Given the description of an element on the screen output the (x, y) to click on. 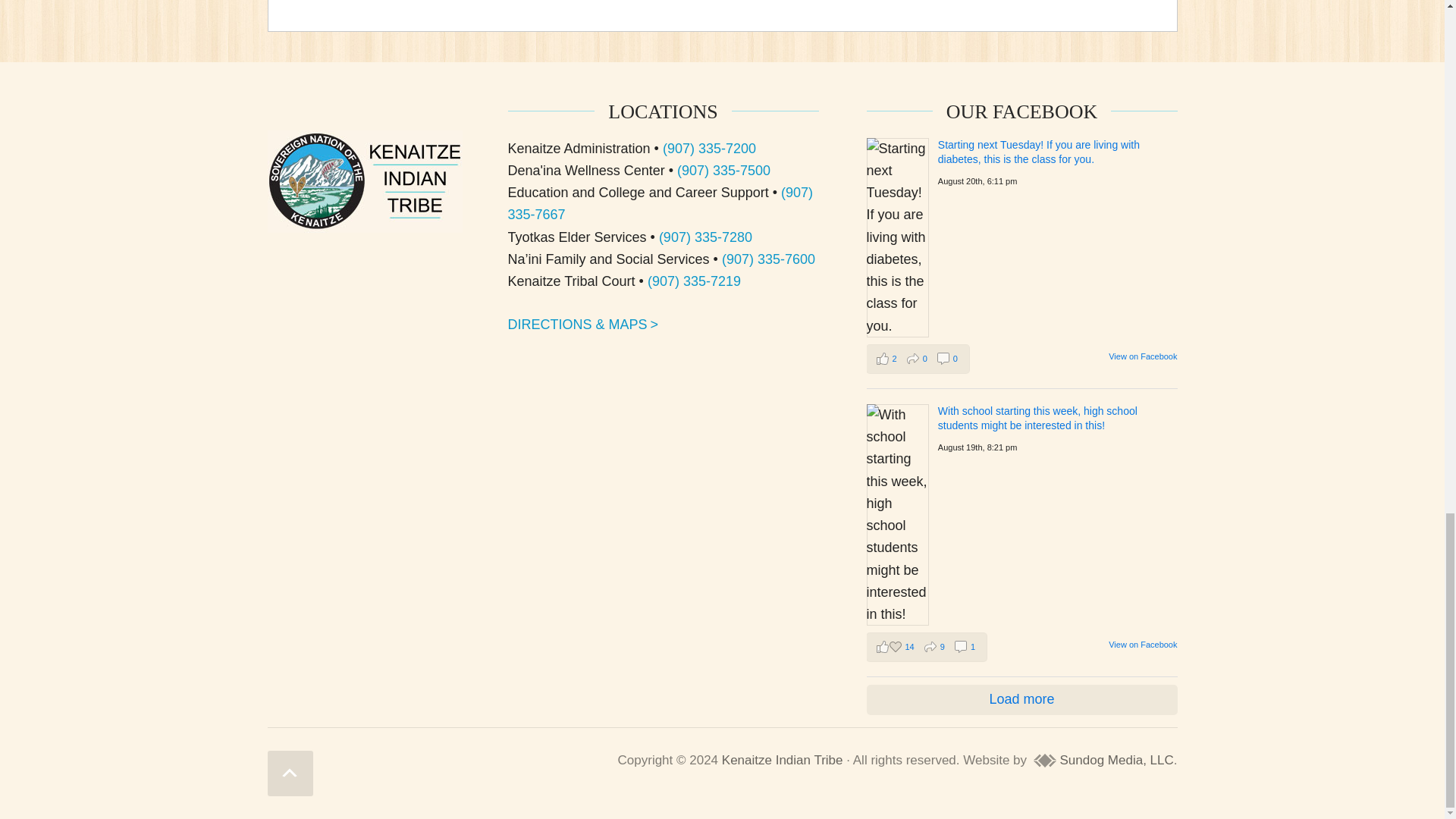
View on Facebook (1142, 644)
Kenaitze Indian Tribe (782, 759)
View on Facebook (1142, 356)
